Given the description of an element on the screen output the (x, y) to click on. 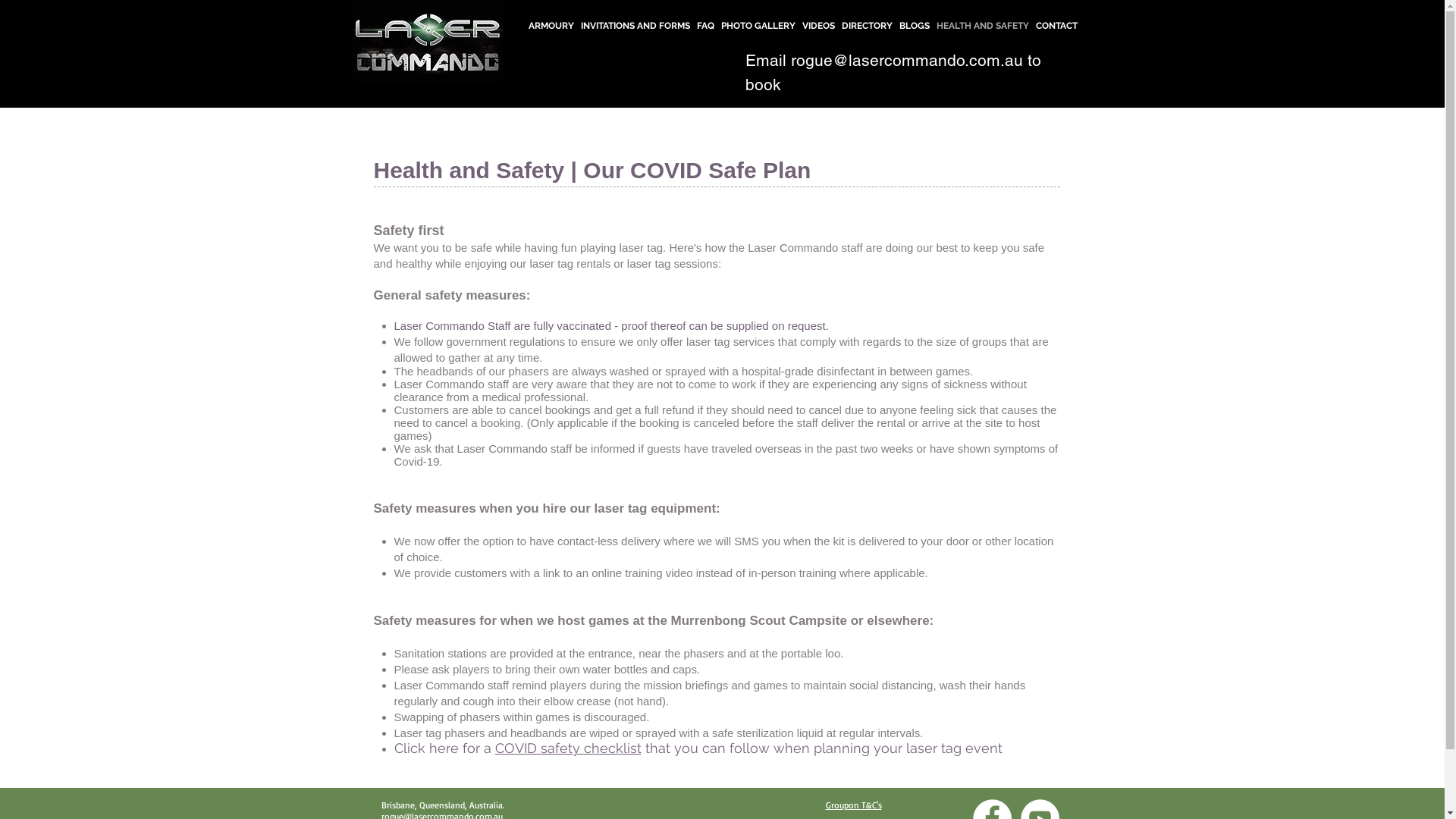
ARMOURY Element type: text (550, 26)
VIDEOS Element type: text (818, 26)
rogue@lasercommando.com.au Element type: text (906, 59)
DIRECTORY Element type: text (867, 26)
PHOTO GALLERY Element type: text (757, 26)
FAQ Element type: text (705, 26)
CONTACT Element type: text (1056, 26)
Groupon T&C's Element type: text (853, 804)
INVITATIONS AND FORMS Element type: text (635, 26)
COVID safety checklist Element type: text (567, 748)
HEALTH AND SAFETY Element type: text (982, 26)
BLOGS Element type: text (914, 26)
